Given the description of an element on the screen output the (x, y) to click on. 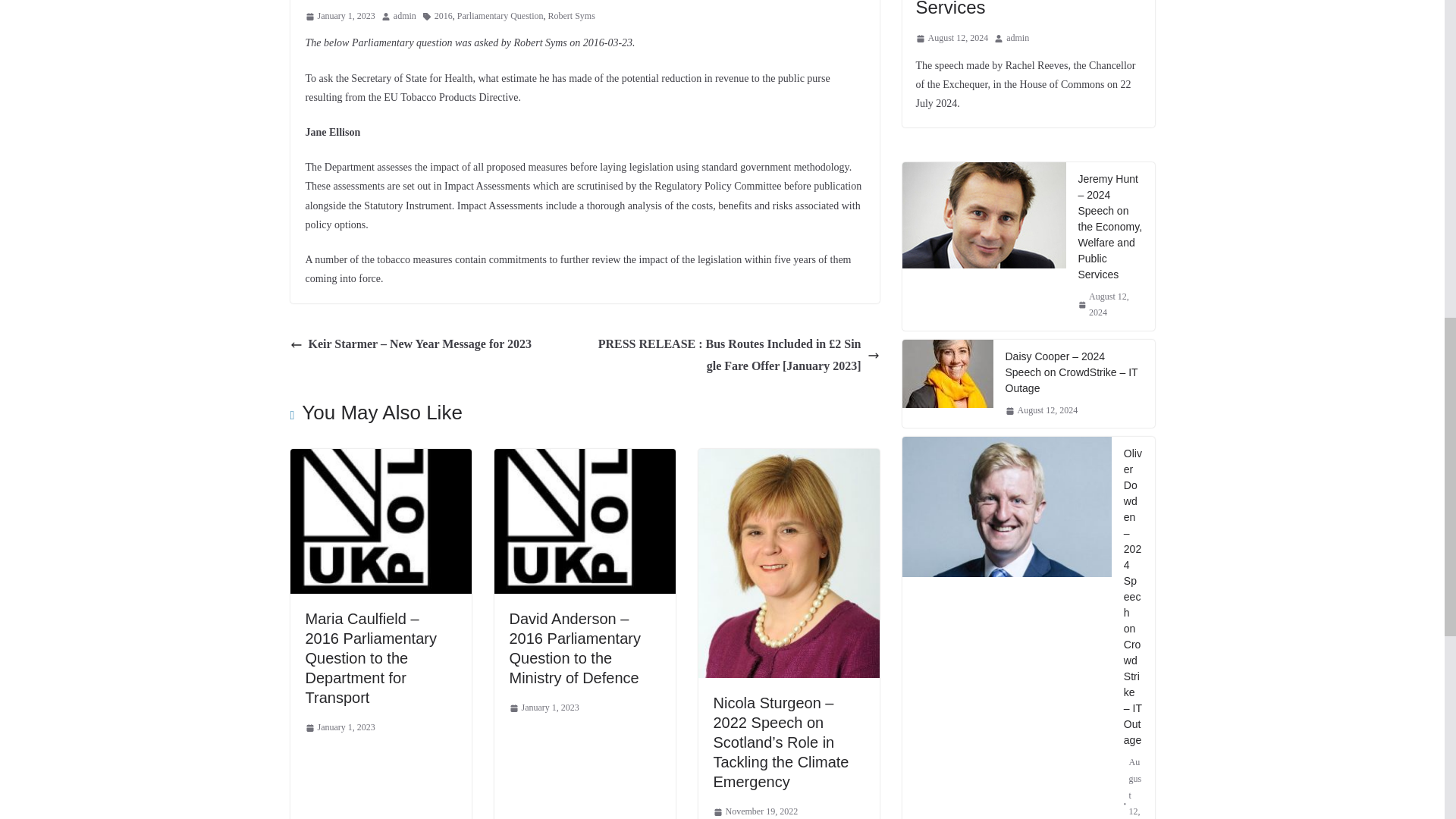
January 1, 2023 (339, 727)
admin (404, 16)
January 1, 2023 (339, 16)
admin (404, 16)
Robert Syms (570, 16)
Parliamentary Question (500, 16)
12:00 am (339, 16)
2016 (442, 16)
